Given the description of an element on the screen output the (x, y) to click on. 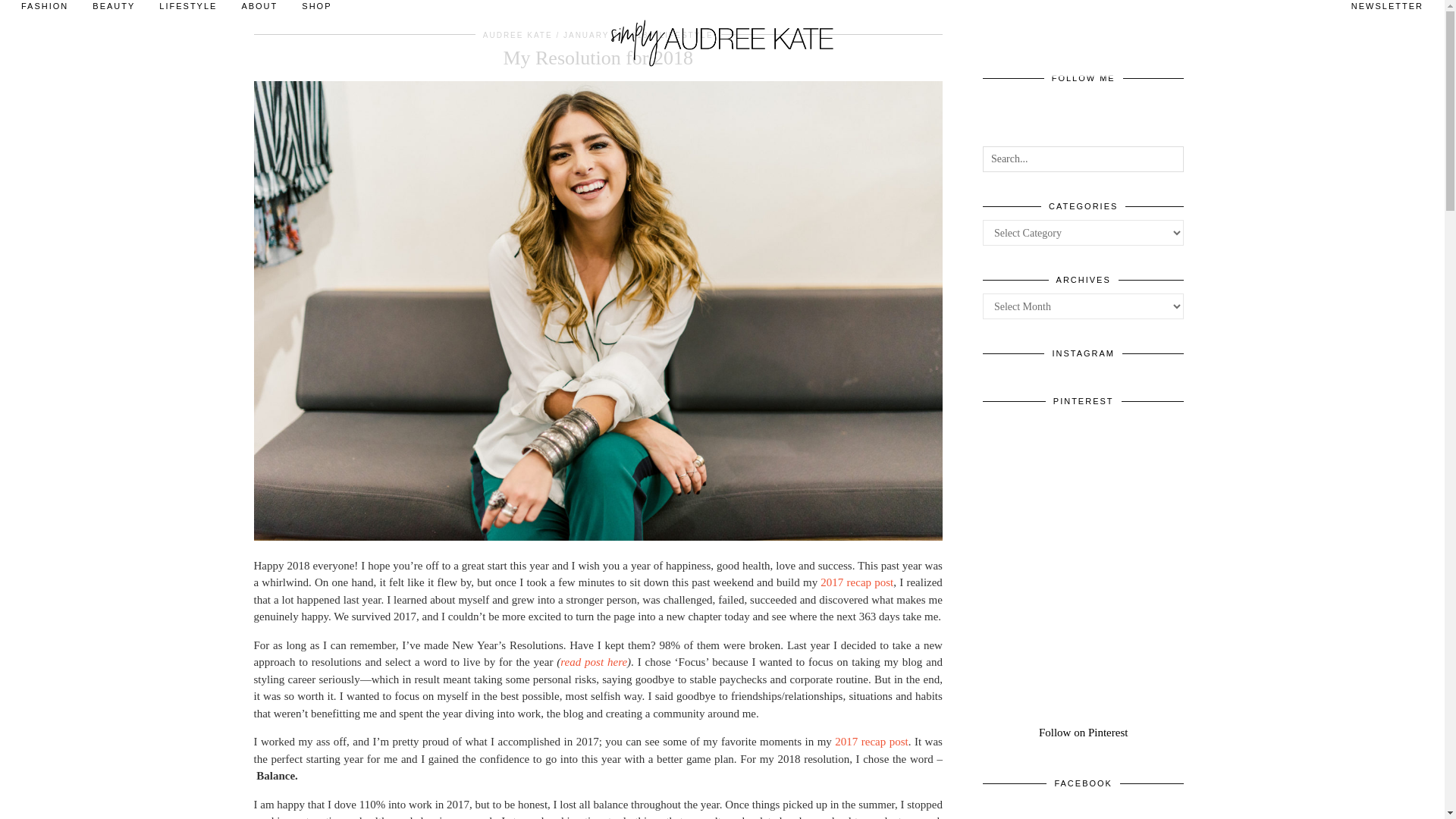
2017 recap post (857, 582)
ABOUT (258, 10)
FASHION (44, 10)
AUDREE KATE (518, 35)
Posts by Audree Kate (518, 35)
LIFESTYLE (686, 35)
BEAUTY (113, 10)
2017 recap post (870, 741)
Simply Audree Kate (722, 37)
LIFESTYLE (187, 10)
